Given the description of an element on the screen output the (x, y) to click on. 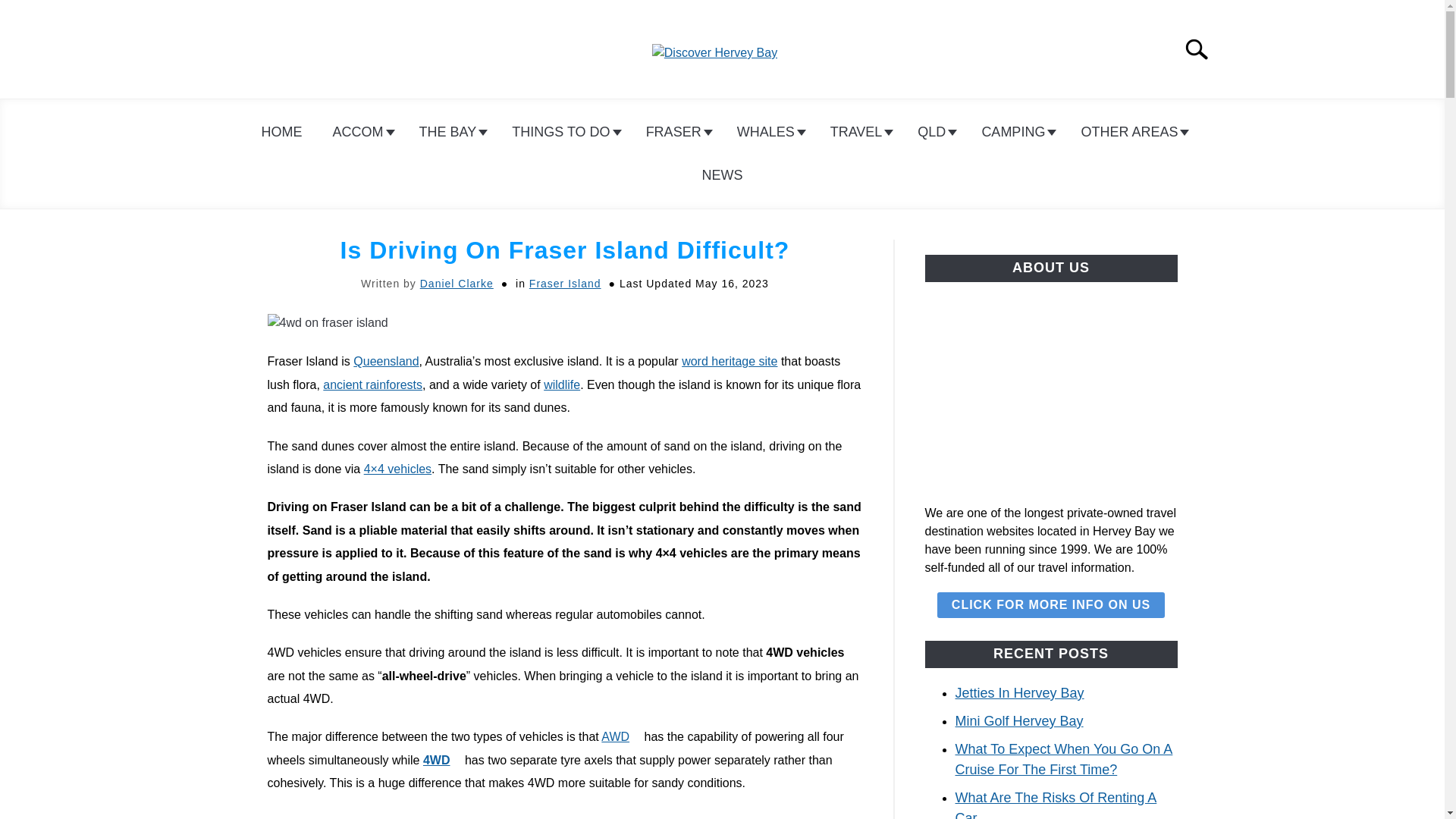
Opens in a new tab. (456, 756)
THE BAY (450, 131)
HOME (281, 131)
Search (1203, 49)
ACCOM (360, 131)
Opens in a new tab. (635, 732)
